Given the description of an element on the screen output the (x, y) to click on. 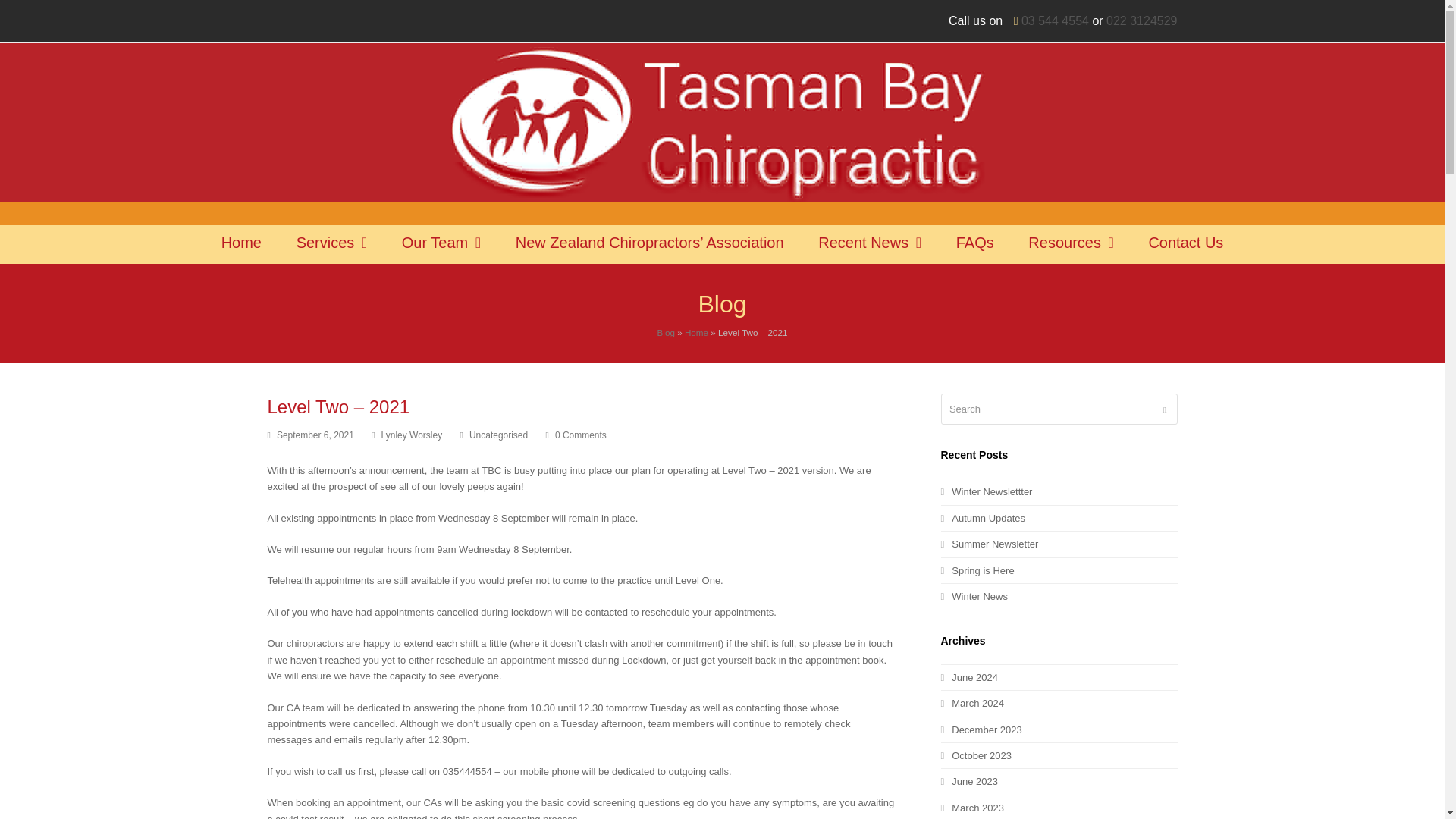
Our Team (440, 244)
Uncategorised (497, 434)
Home (241, 244)
Uncategorised (497, 434)
Recent News (869, 244)
Resources (1070, 244)
Lynley Worsley (411, 434)
Contact Us (1185, 244)
03 544 4554 (1055, 20)
Services (332, 244)
